Given the description of an element on the screen output the (x, y) to click on. 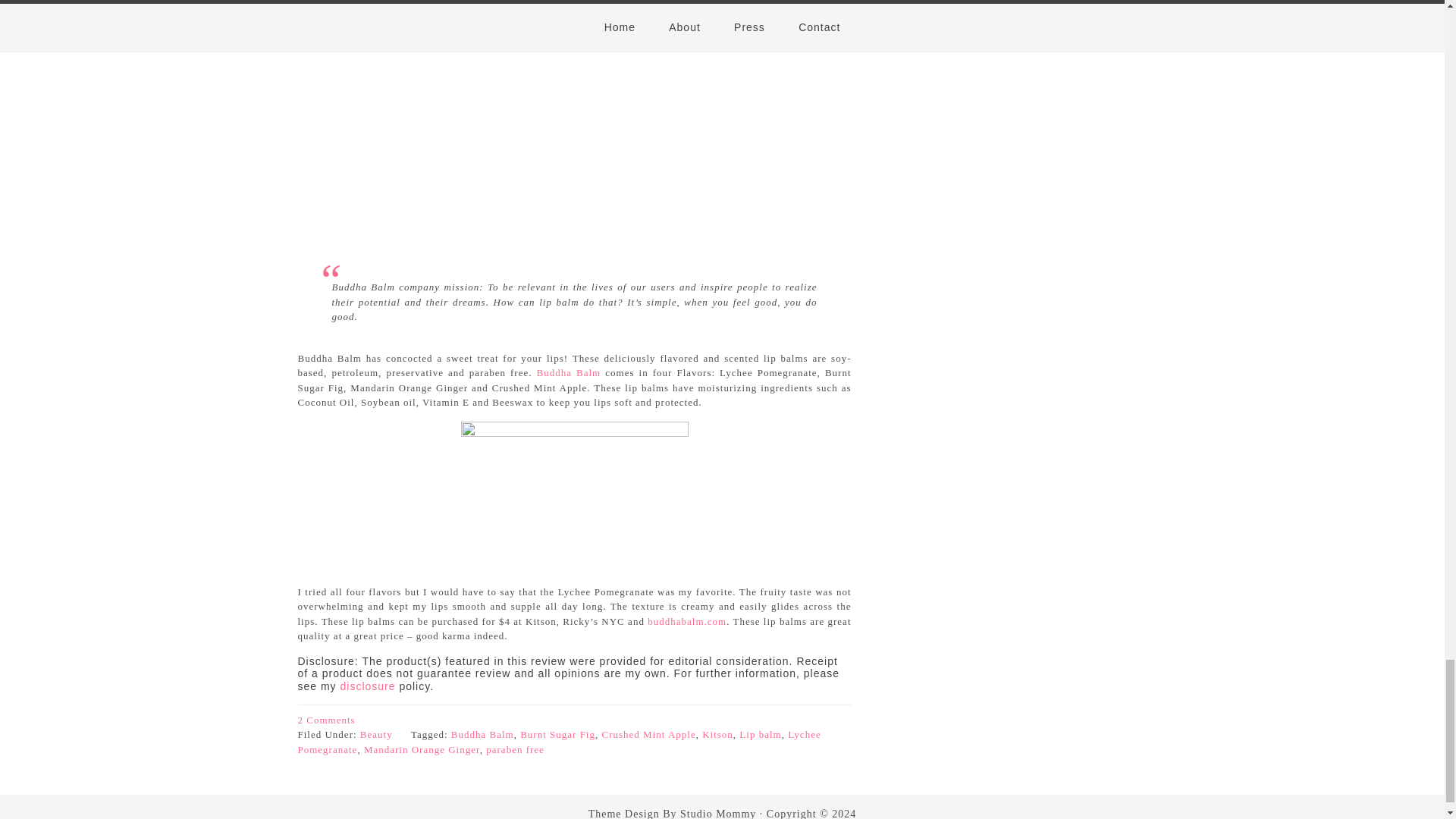
Disclosure (368, 686)
BuddhaBalm (574, 125)
buddhabalm3 (574, 493)
